Given the description of an element on the screen output the (x, y) to click on. 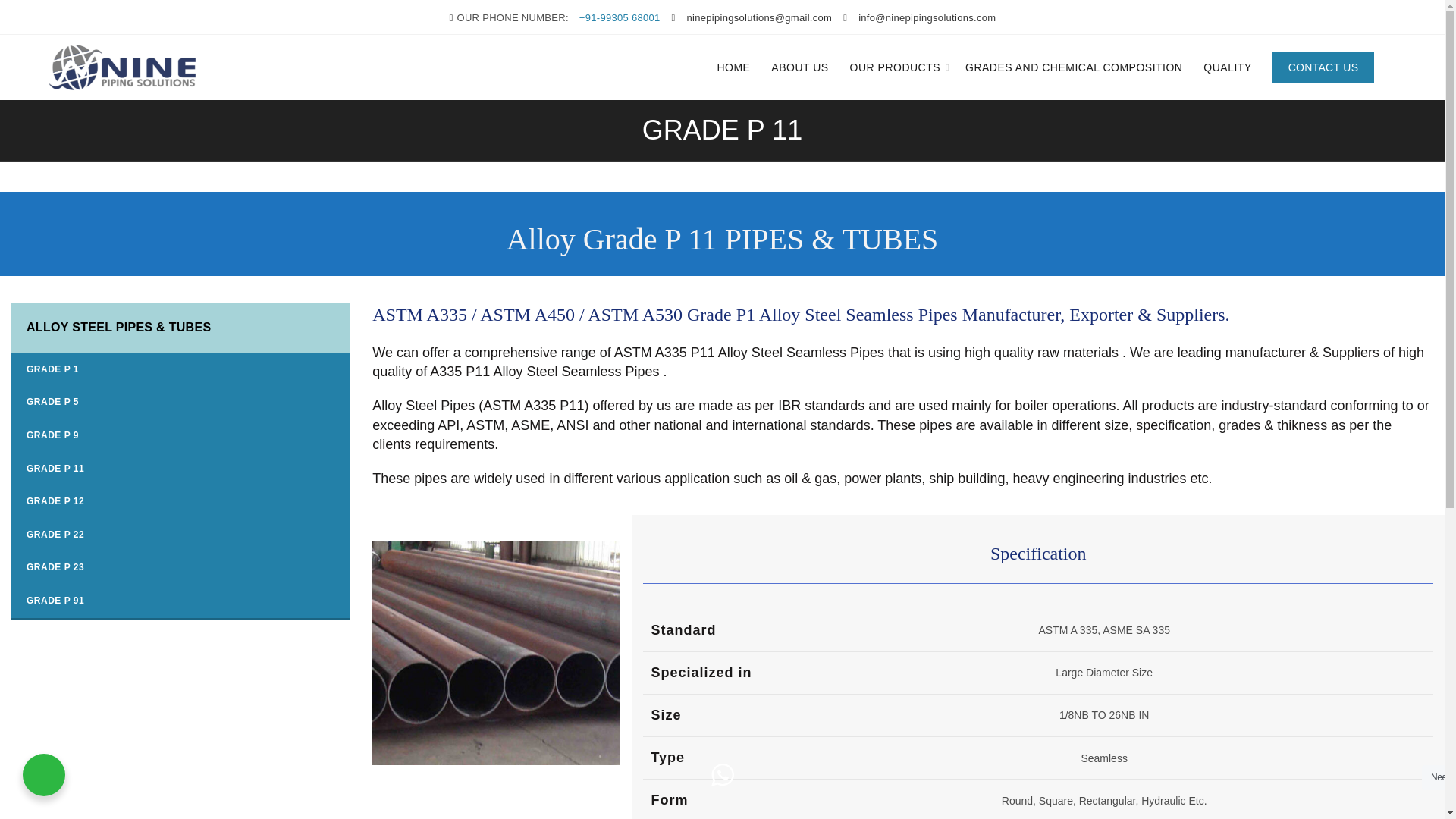
GRADES AND CHEMICAL COMPOSITION (1073, 67)
ABOUT US (799, 67)
alloy-steel-pipe (496, 652)
HOME (733, 67)
OUR PRODUCTS (895, 67)
